Given the description of an element on the screen output the (x, y) to click on. 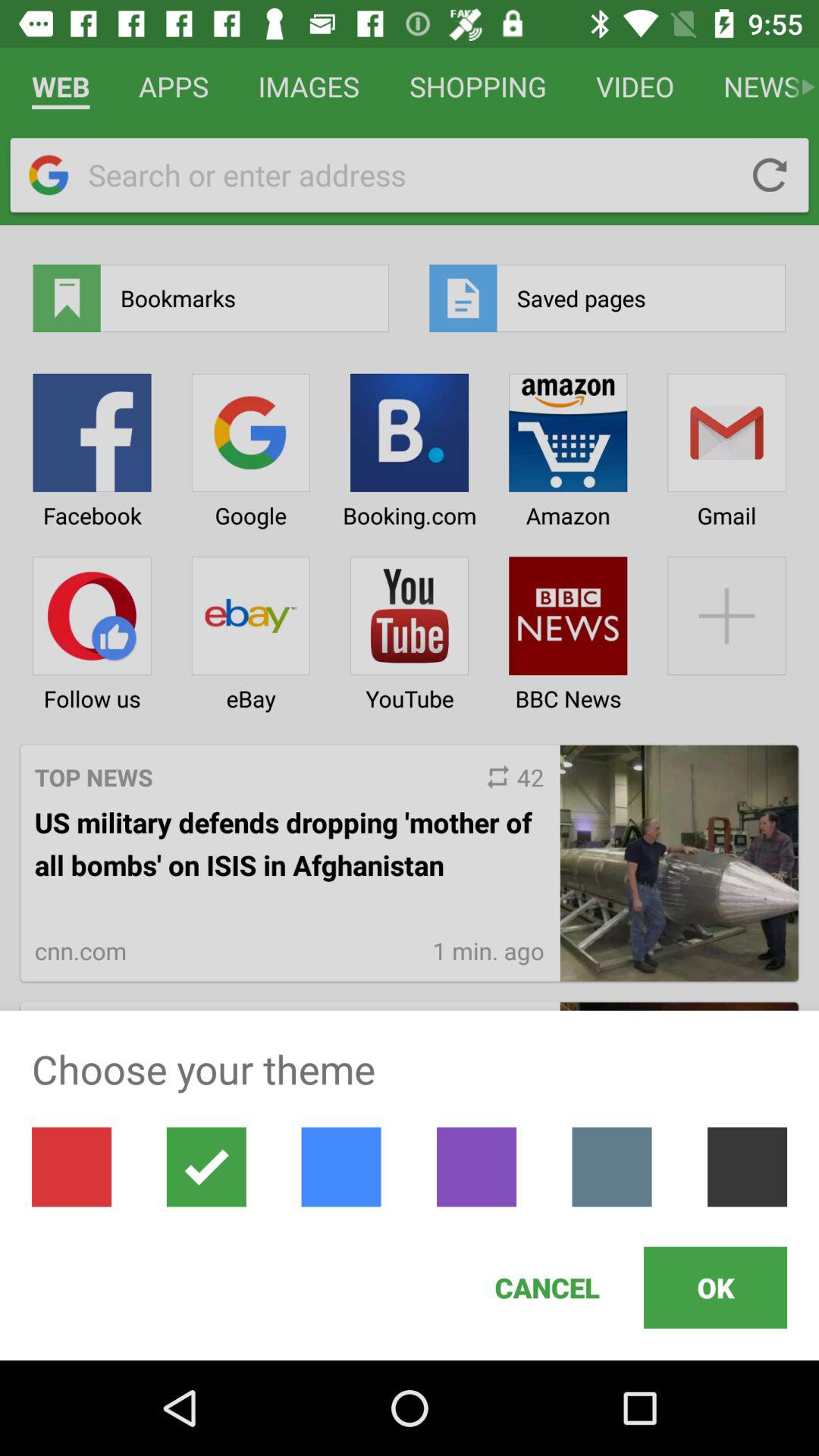
select the text which says cancel (547, 1287)
click the youtube logo on the web page (409, 628)
click on the plus symbol in the page (726, 628)
click on the icon with the text amazon (567, 445)
click on the ok button at the bottom of the page (737, 1315)
click the refresh button on the web page (770, 175)
click on the image along with the text google (250, 445)
